Given the description of an element on the screen output the (x, y) to click on. 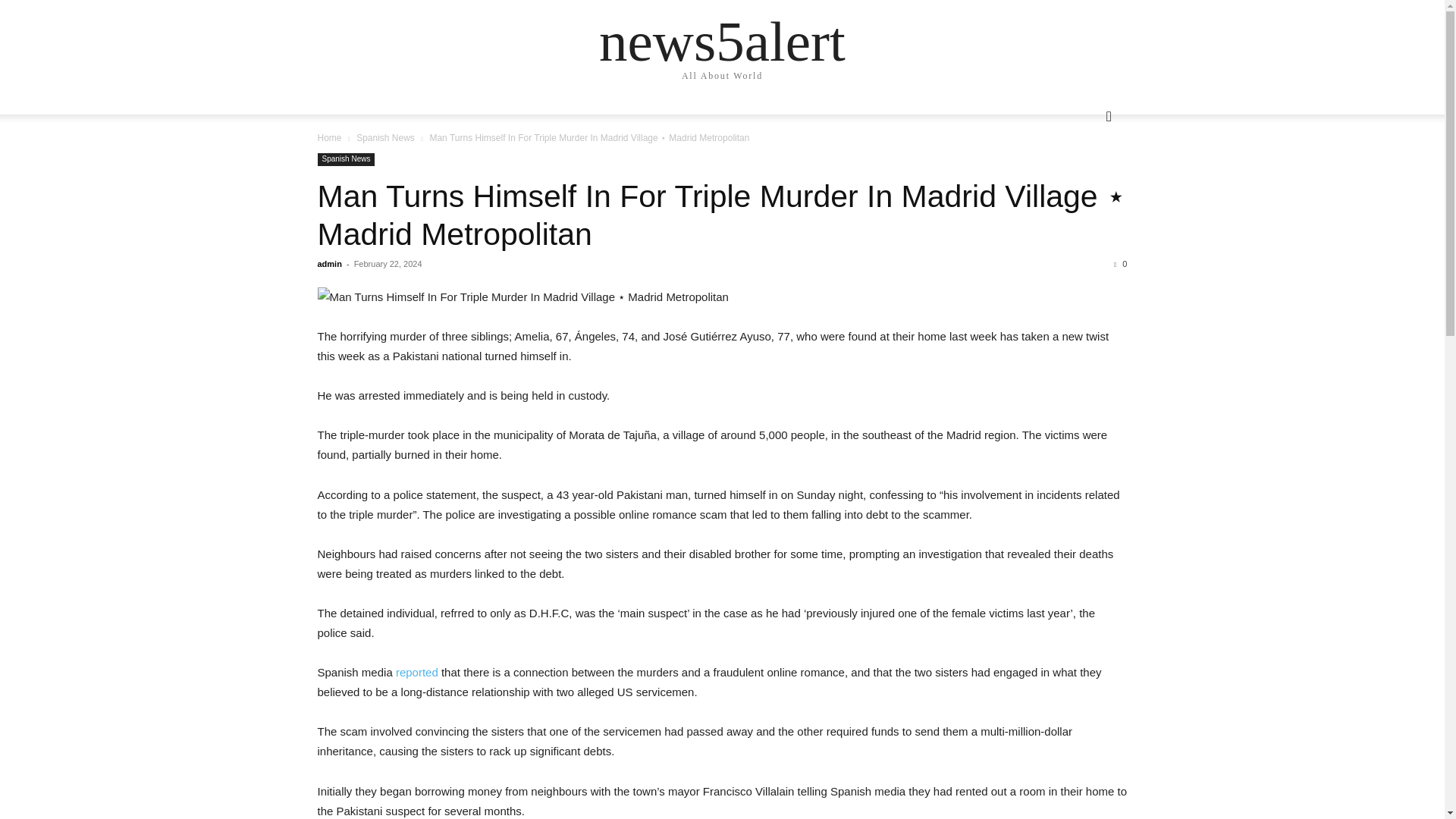
admin (328, 263)
reported (417, 671)
Spanish News (385, 137)
news5alert (721, 41)
Home (328, 137)
View all posts in Spanish News (385, 137)
Search (1085, 177)
Spanish News (345, 159)
0 (1119, 263)
